Given the description of an element on the screen output the (x, y) to click on. 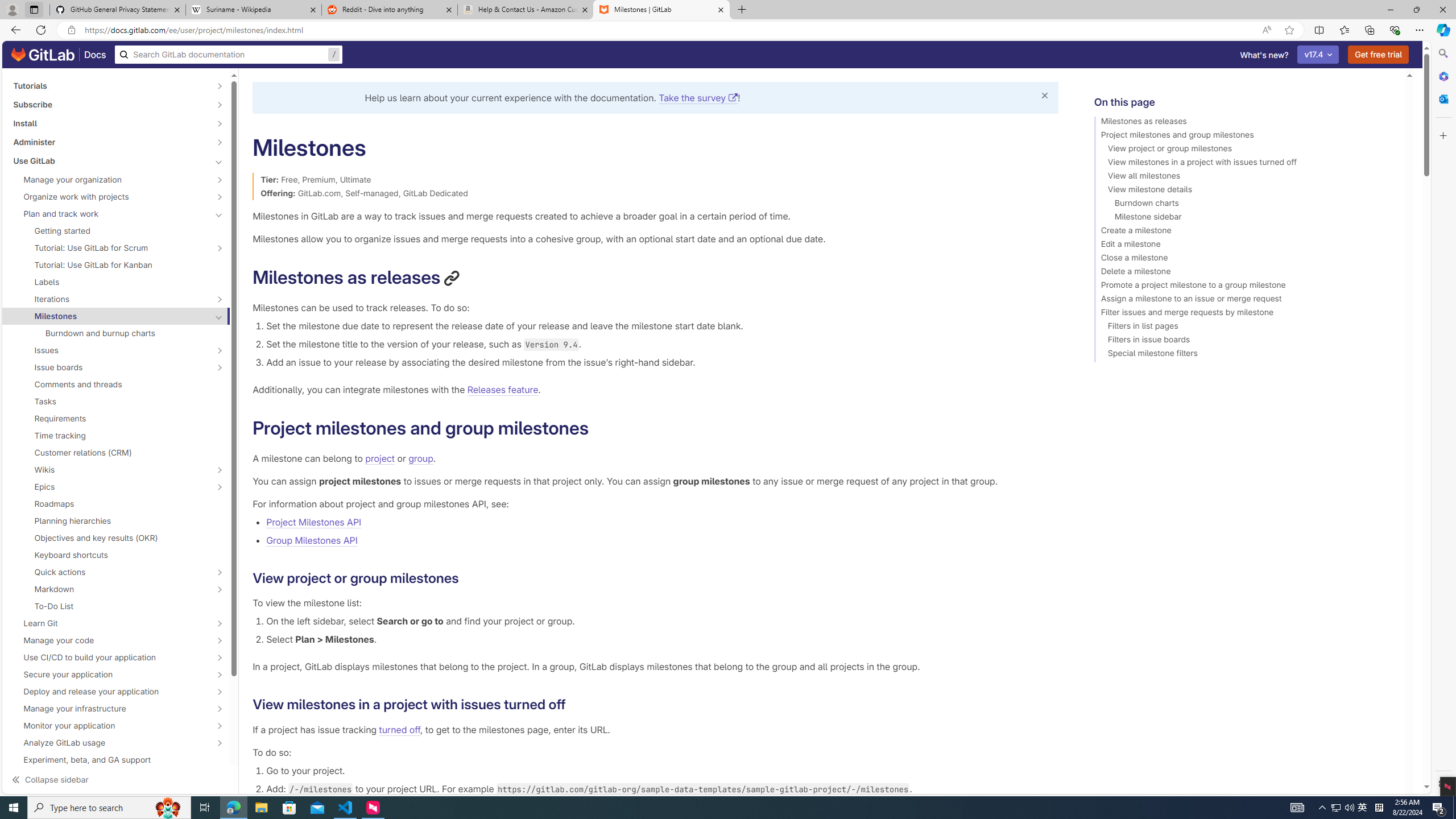
To-Do List (116, 606)
Releases feature (502, 389)
Manage your organization (109, 179)
Requirements (116, 418)
Secure your application (109, 674)
Help & Contact Us - Amazon Customer Service - Sleeping (525, 9)
Use CI/CD to build your application (109, 656)
Burndown charts (1244, 205)
Subscribe (109, 104)
Markdown (109, 588)
Filters in issue boards (1244, 341)
